Given the description of an element on the screen output the (x, y) to click on. 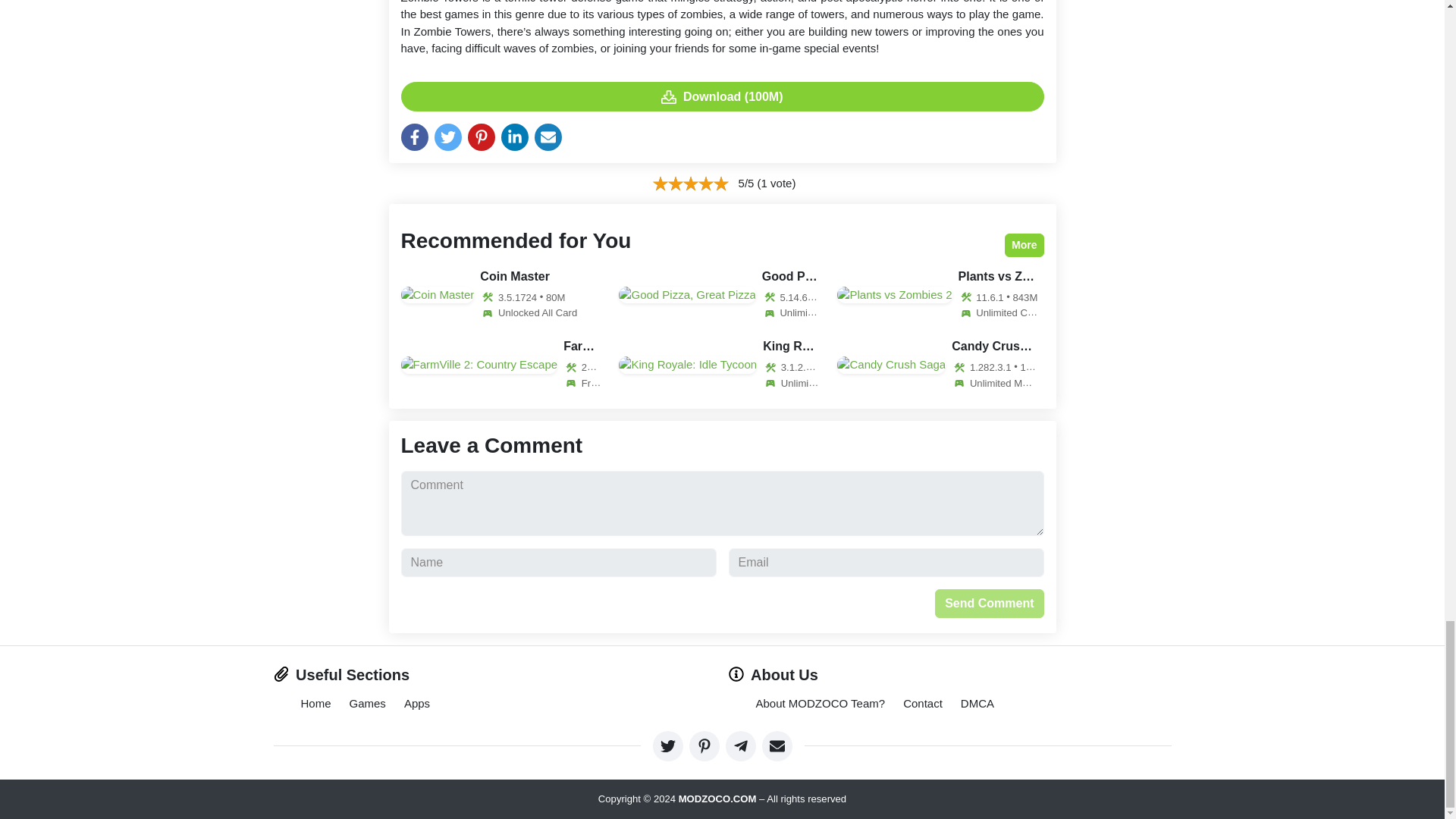
King Royale: Idle Tycoon (721, 364)
Plants vs Zombies 2 (940, 295)
Coin Master (503, 295)
FarmVille 2: Country Escape (503, 364)
Good Pizza, Great Pizza (721, 295)
Candy Crush Saga (940, 364)
